Given the description of an element on the screen output the (x, y) to click on. 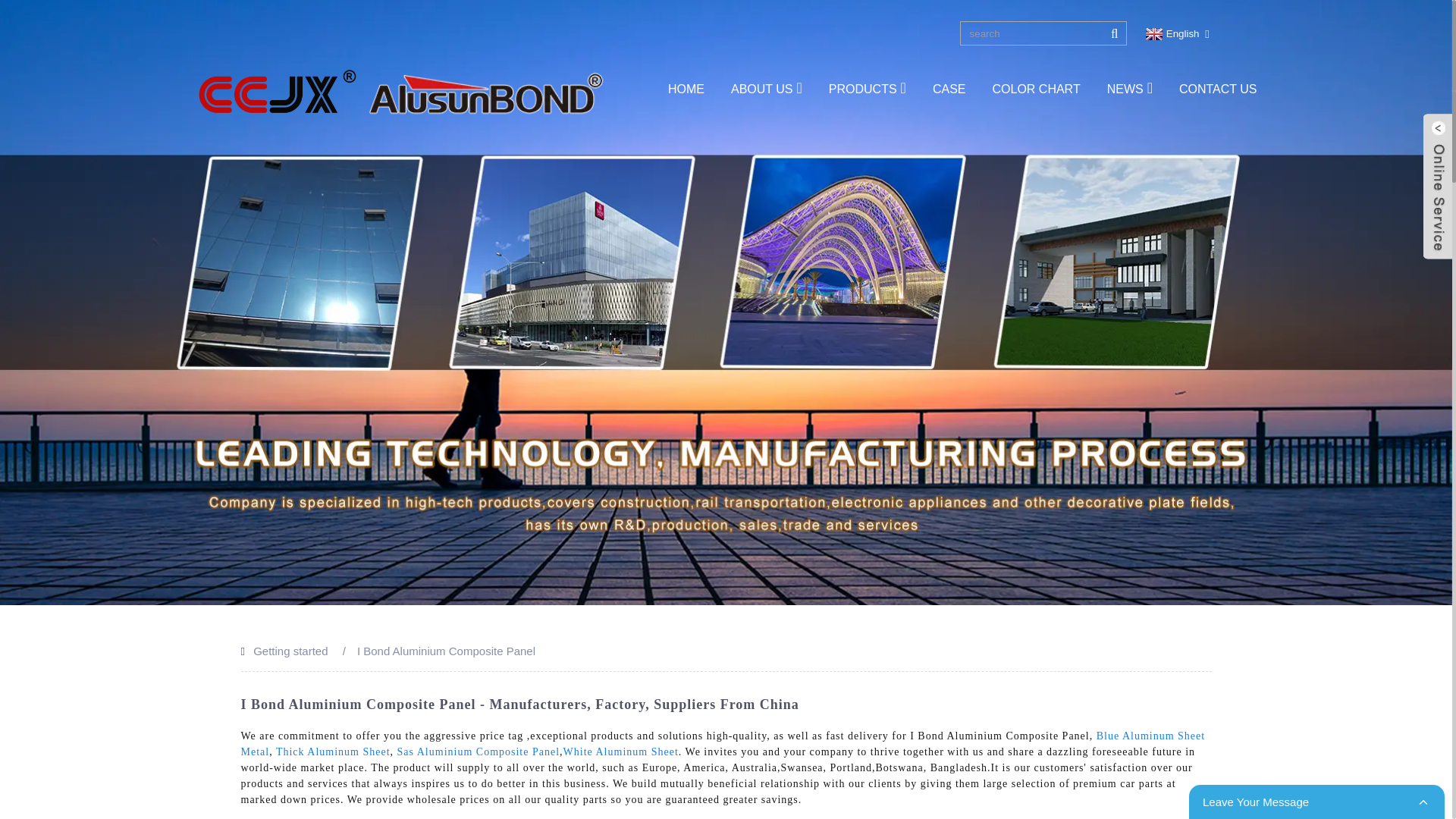
White Aluminum Sheet (620, 751)
Thick Aluminum Sheet (333, 751)
CONTACT US (1218, 89)
Sas Aluminium Composite Panel (478, 751)
NEWS (1129, 89)
Sas Aluminium Composite Panel (478, 751)
Thick Aluminum Sheet (333, 751)
English (1170, 33)
Blue Aluminum Sheet Metal (723, 743)
Getting started (290, 650)
